Given the description of an element on the screen output the (x, y) to click on. 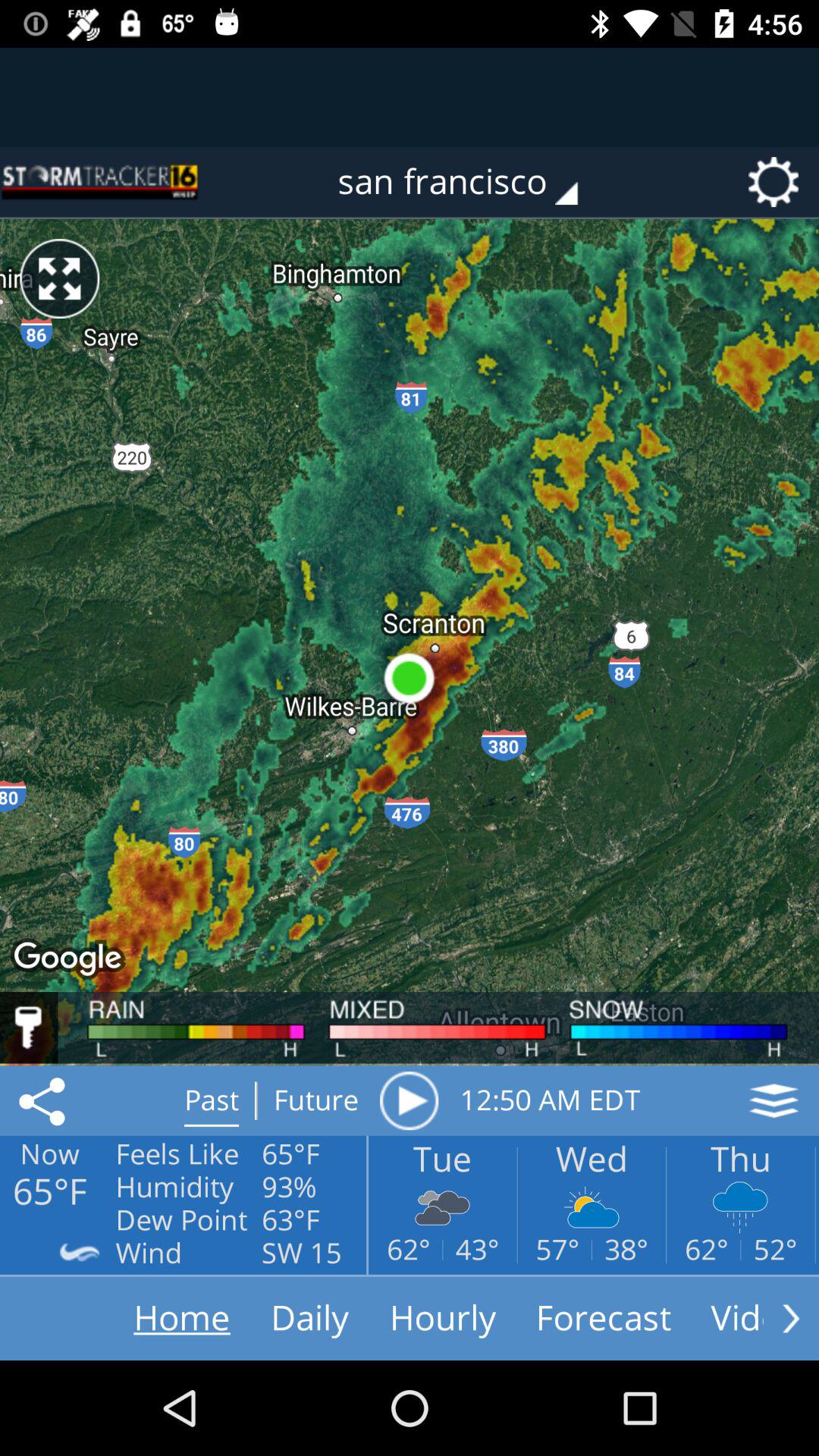
share the forecast (44, 1100)
